Given the description of an element on the screen output the (x, y) to click on. 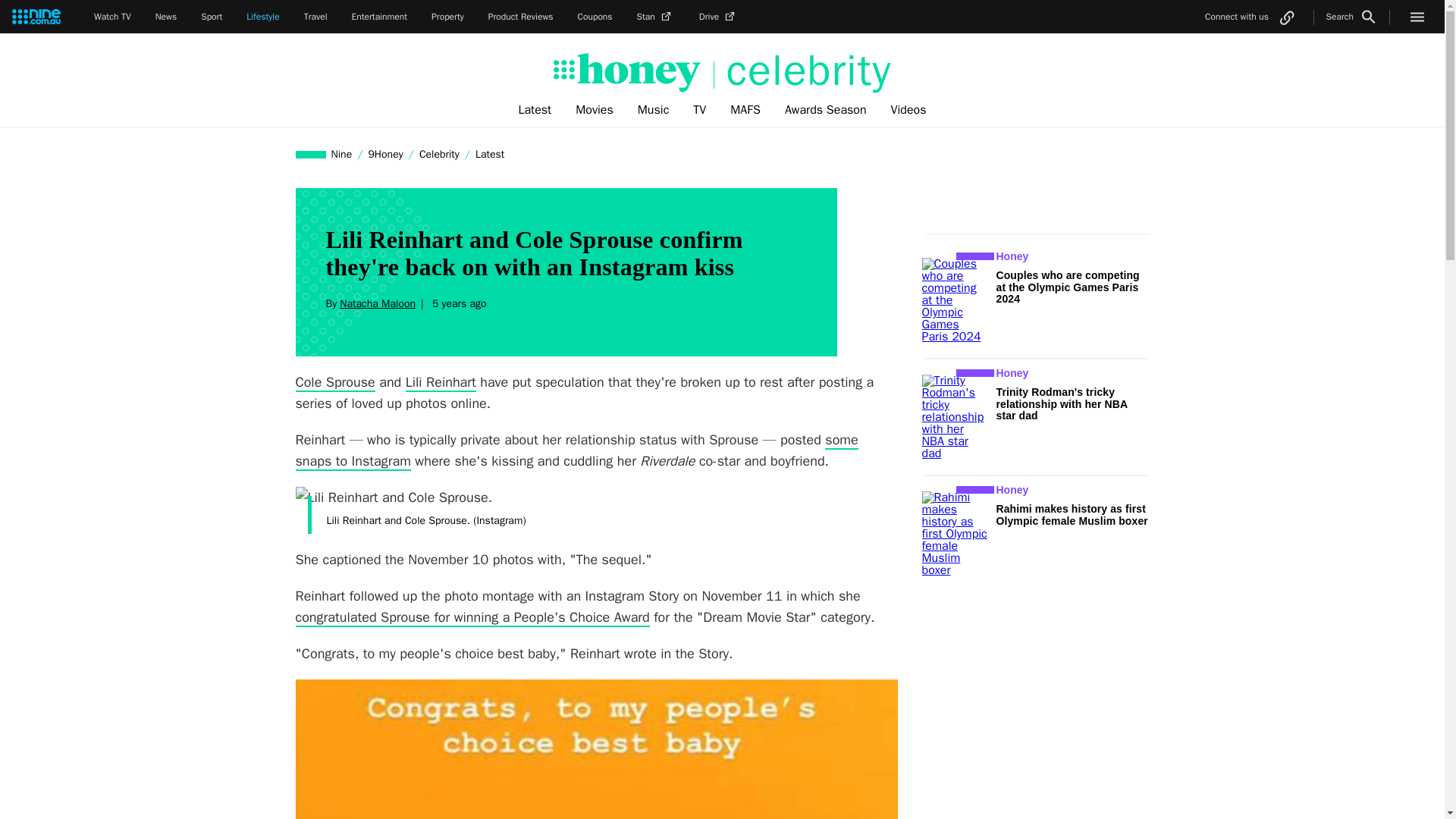
Cole Sprouse (335, 382)
Watch TV (112, 16)
Latest (534, 109)
Coupons (595, 16)
Property (447, 16)
Natacha Maloon (376, 303)
9Honey (384, 154)
Nine (342, 154)
Awards Season (826, 109)
Latest (489, 154)
